Given the description of an element on the screen output the (x, y) to click on. 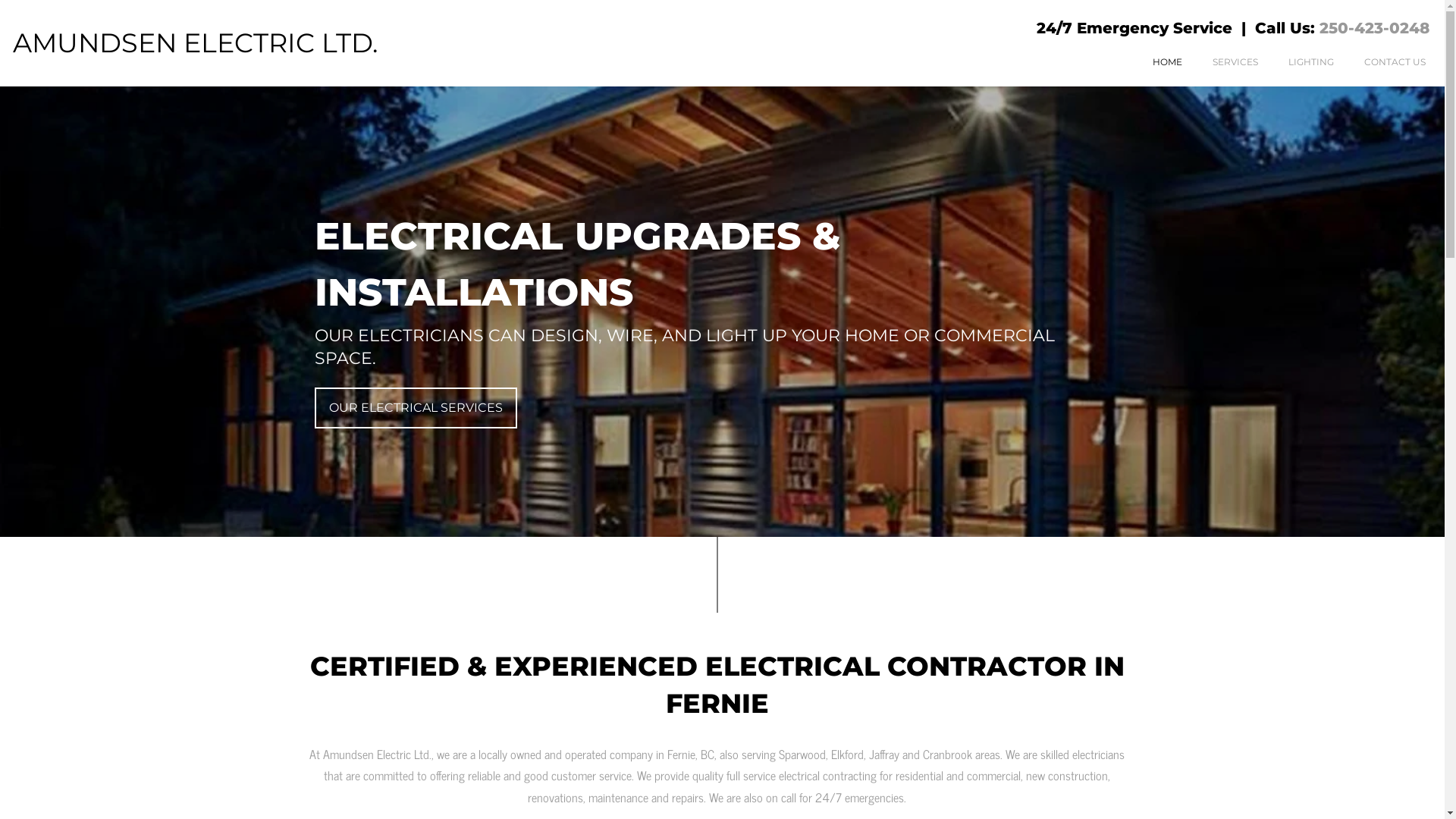
SERVICES Element type: text (1219, 62)
HOME Element type: text (1152, 62)
LIGHTING Element type: text (1295, 62)
CONTACT US Element type: text (1378, 62)
250-423-0248 Element type: text (1374, 27)
AMUNDSEN ELECTRIC LTD. Element type: text (194, 42)
OUR ELECTRICAL SERVICES Element type: text (414, 407)
